Given the description of an element on the screen output the (x, y) to click on. 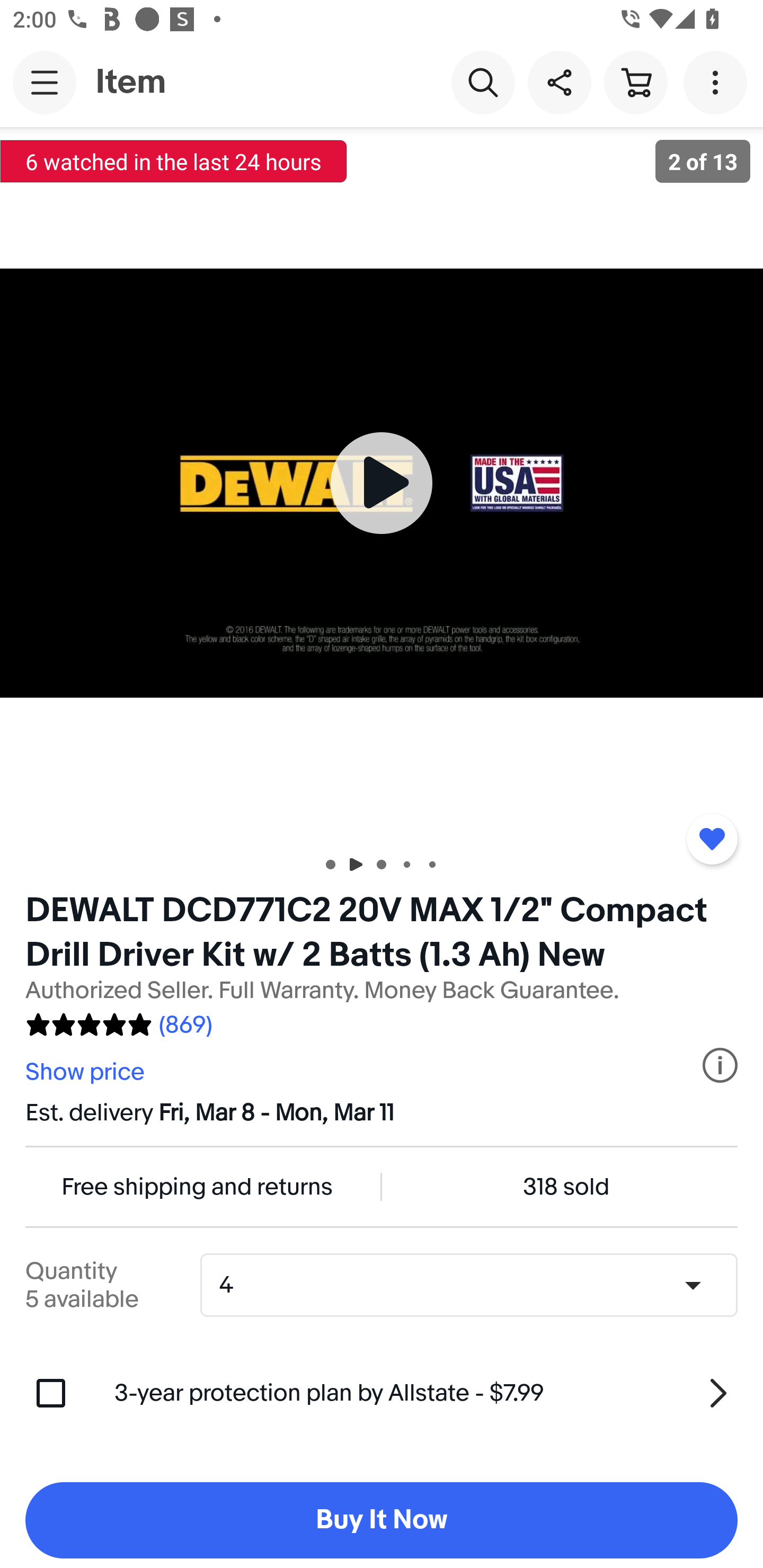
Main navigation, open (44, 82)
Search (482, 81)
Share this item (559, 81)
Cart button shopping cart (635, 81)
More options (718, 81)
6 watched in the last 24 hours (173, 161)
Added to watchlist (711, 838)
More information (719, 1065)
Show price (87, 1072)
Quantity,4,5 available 4 (474, 1284)
3-year protection plan by Allstate - $7.99 (425, 1392)
Buy It Now (381, 1519)
